Given the description of an element on the screen output the (x, y) to click on. 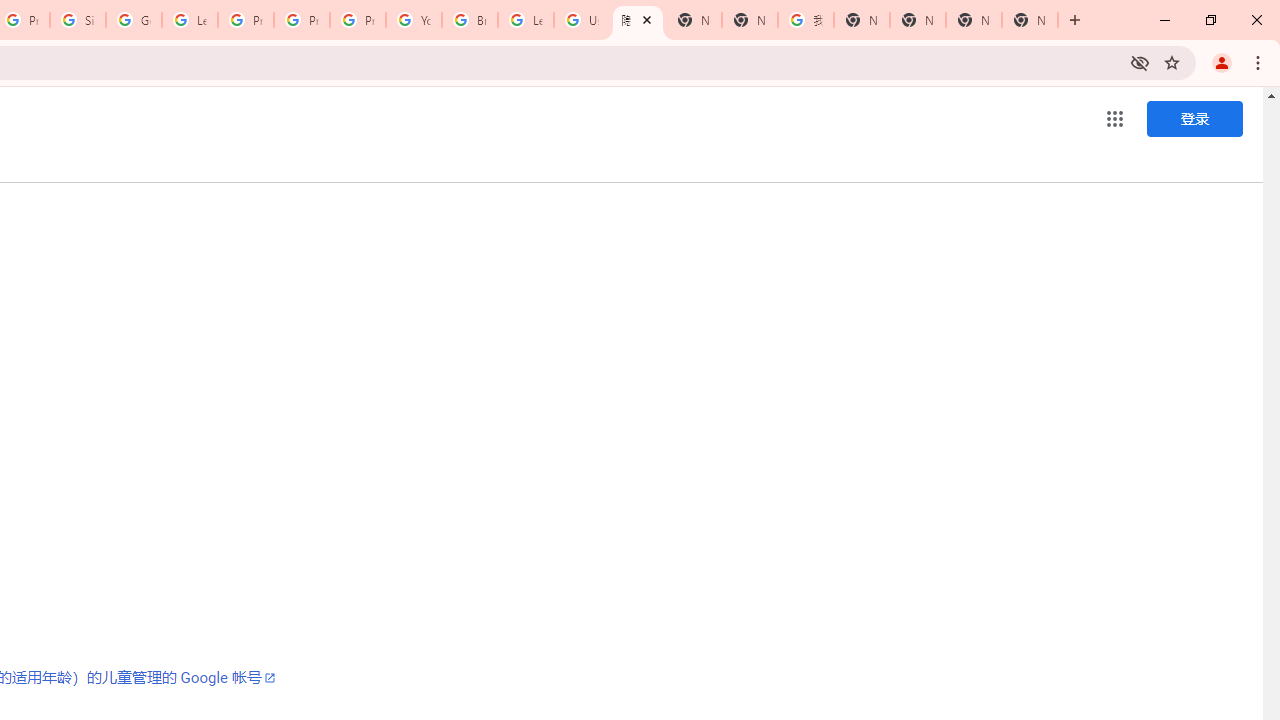
Privacy Help Center - Policies Help (301, 20)
YouTube (413, 20)
New Tab (1030, 20)
Sign in - Google Accounts (77, 20)
